Given the description of an element on the screen output the (x, y) to click on. 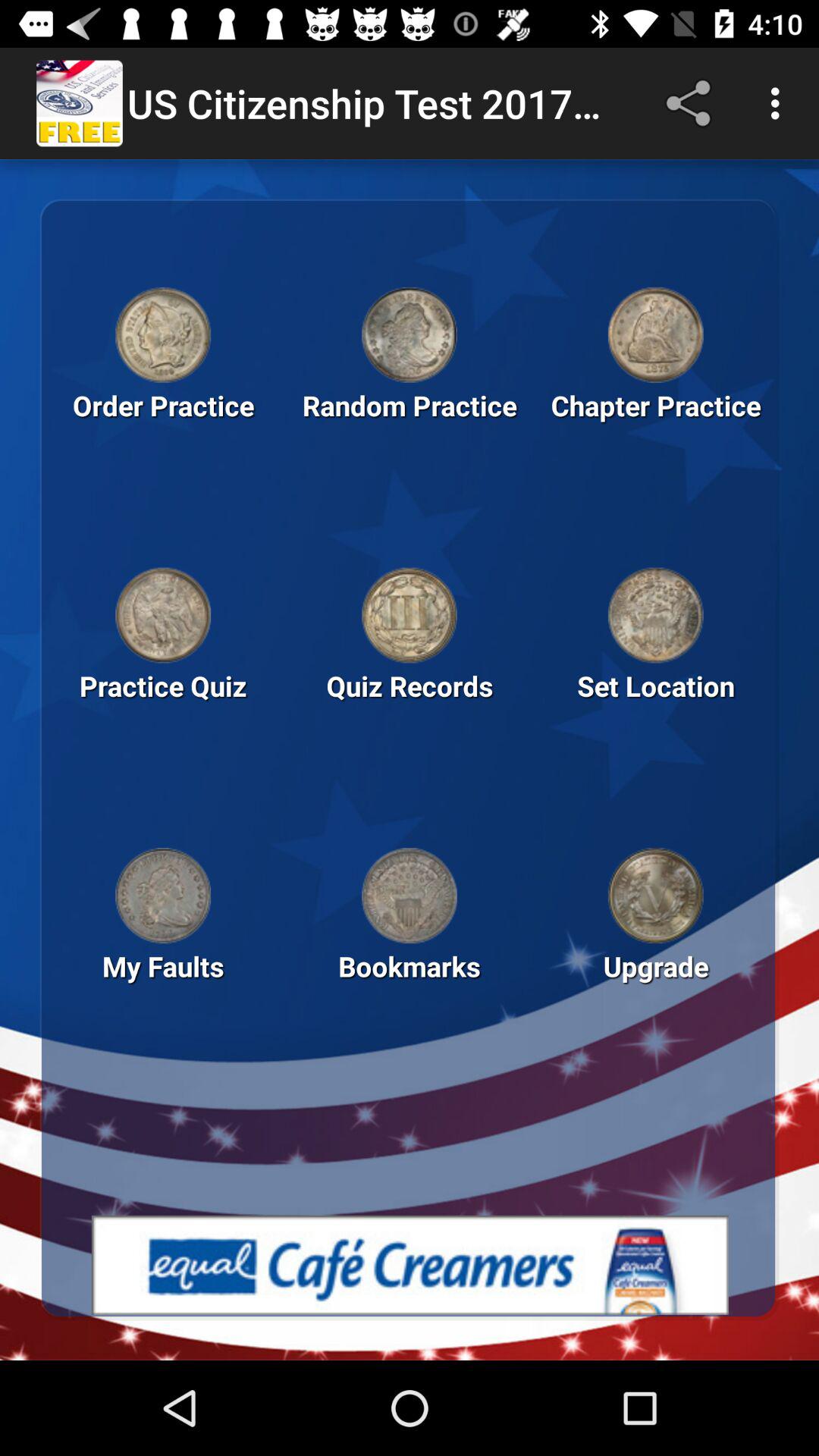
set location (655, 615)
